Given the description of an element on the screen output the (x, y) to click on. 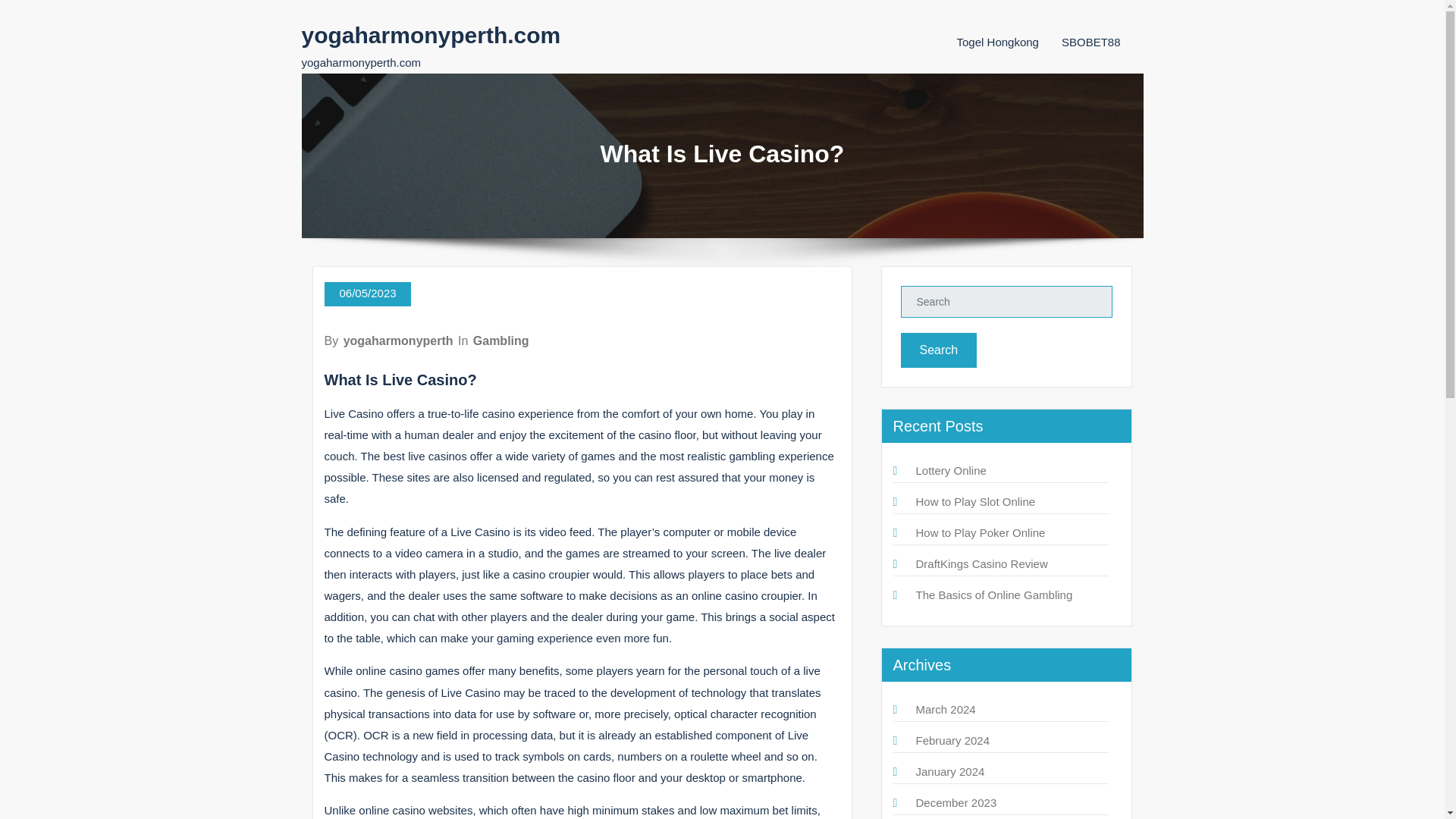
March 2024 (945, 708)
February 2024 (952, 739)
December 2023 (956, 802)
yogaharmonyperth (398, 340)
Search (938, 349)
SBOBET88 (1091, 41)
How to Play Poker Online (980, 532)
DraftKings Casino Review (981, 563)
Togel Hongkong (997, 41)
The Basics of Online Gambling (994, 594)
Lottery Online (951, 470)
Gambling (501, 340)
How to Play Slot Online (975, 501)
yogaharmonyperth.com (430, 34)
January 2024 (950, 771)
